Given the description of an element on the screen output the (x, y) to click on. 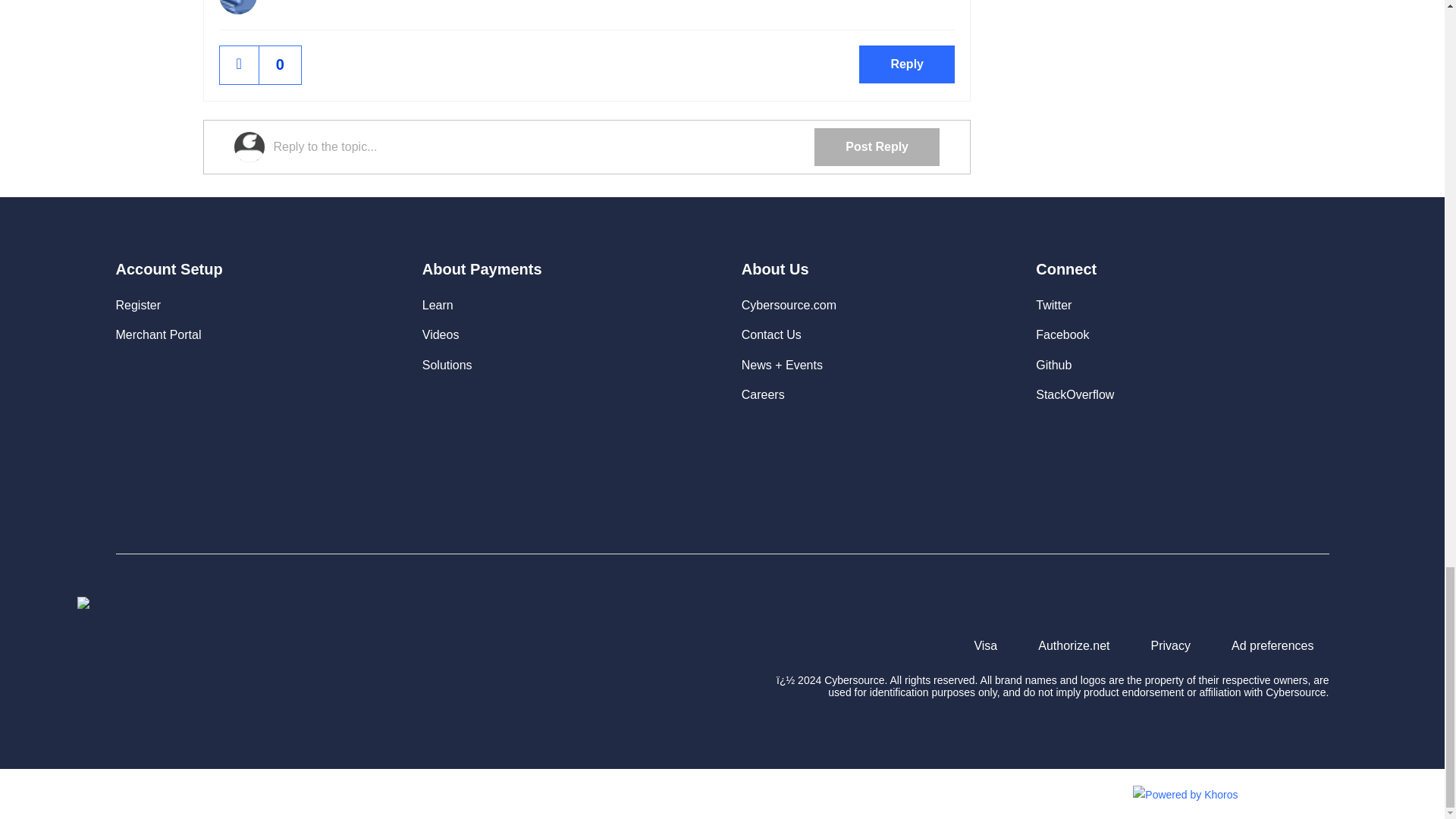
The total number of kudos this post has received. (280, 63)
natesutherland2 (237, 7)
Click here to give kudos to this post. (239, 64)
